Given the description of an element on the screen output the (x, y) to click on. 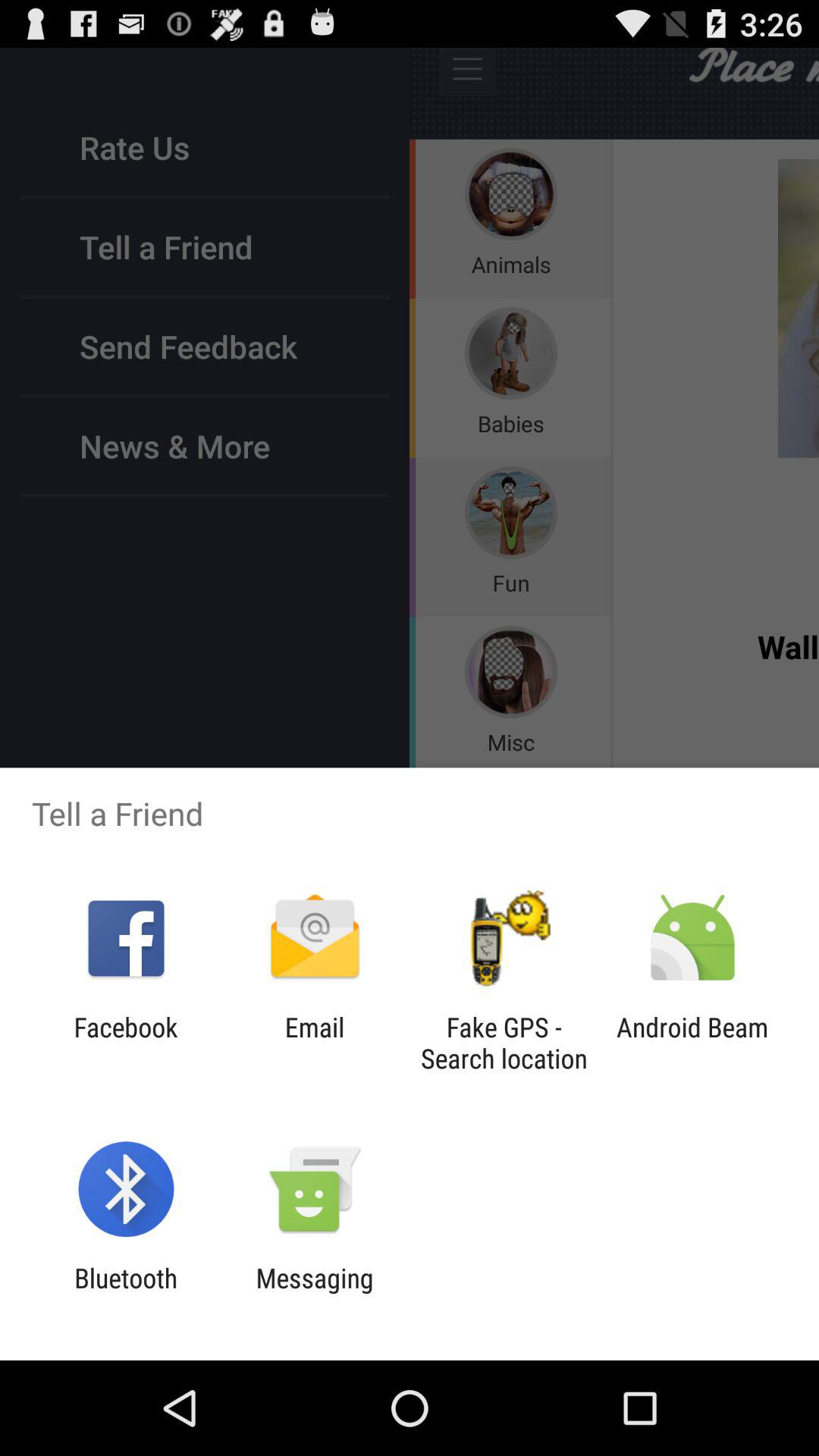
open the item next to the facebook (314, 1042)
